Given the description of an element on the screen output the (x, y) to click on. 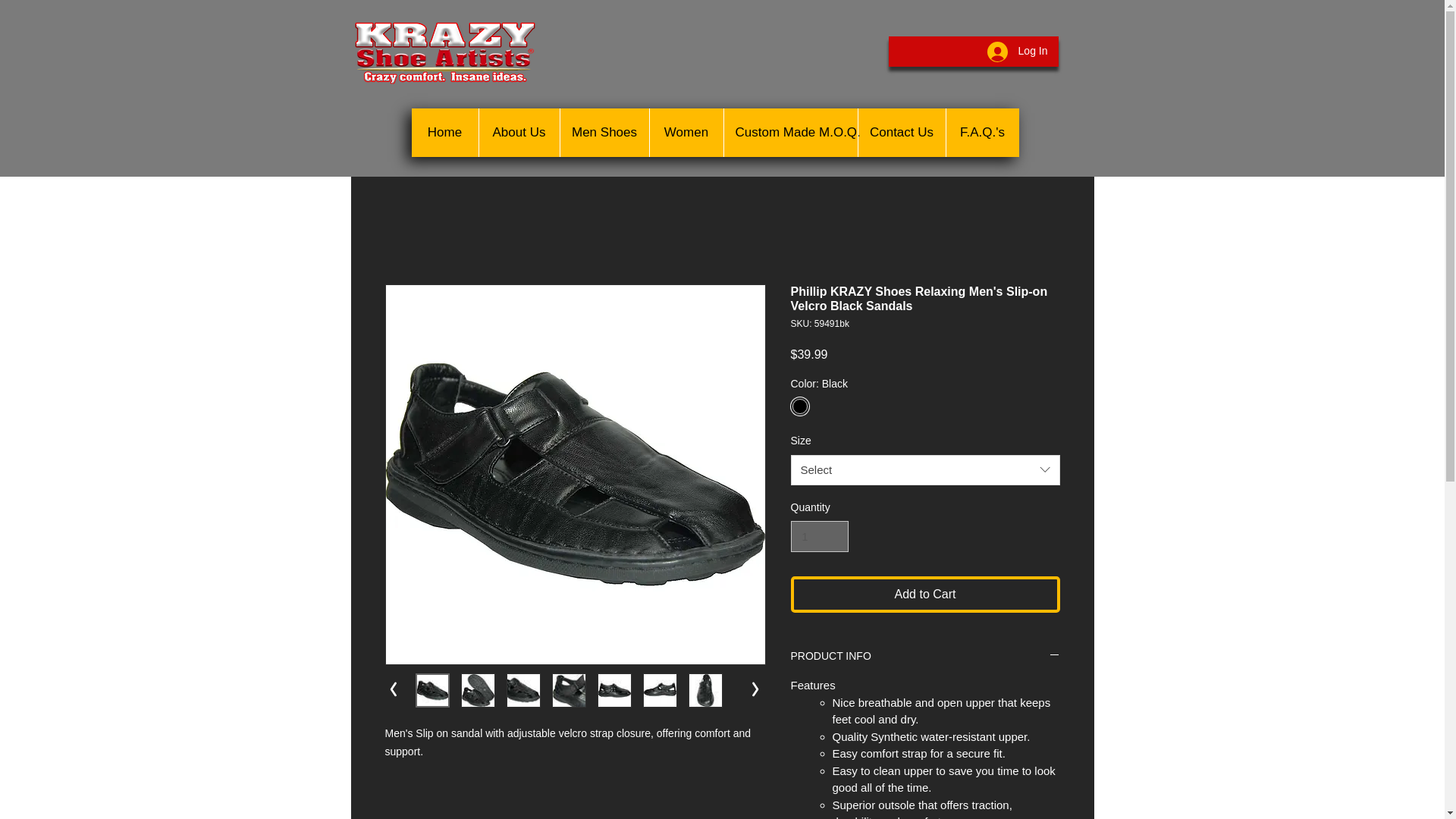
Men Shoes (604, 132)
F.A.Q.'s (980, 132)
1 (818, 536)
Home (443, 132)
Women (686, 132)
Log In (1017, 51)
Contact Us (900, 132)
Custom Made M.O.Q. (790, 132)
About Us (518, 132)
